Given the description of an element on the screen output the (x, y) to click on. 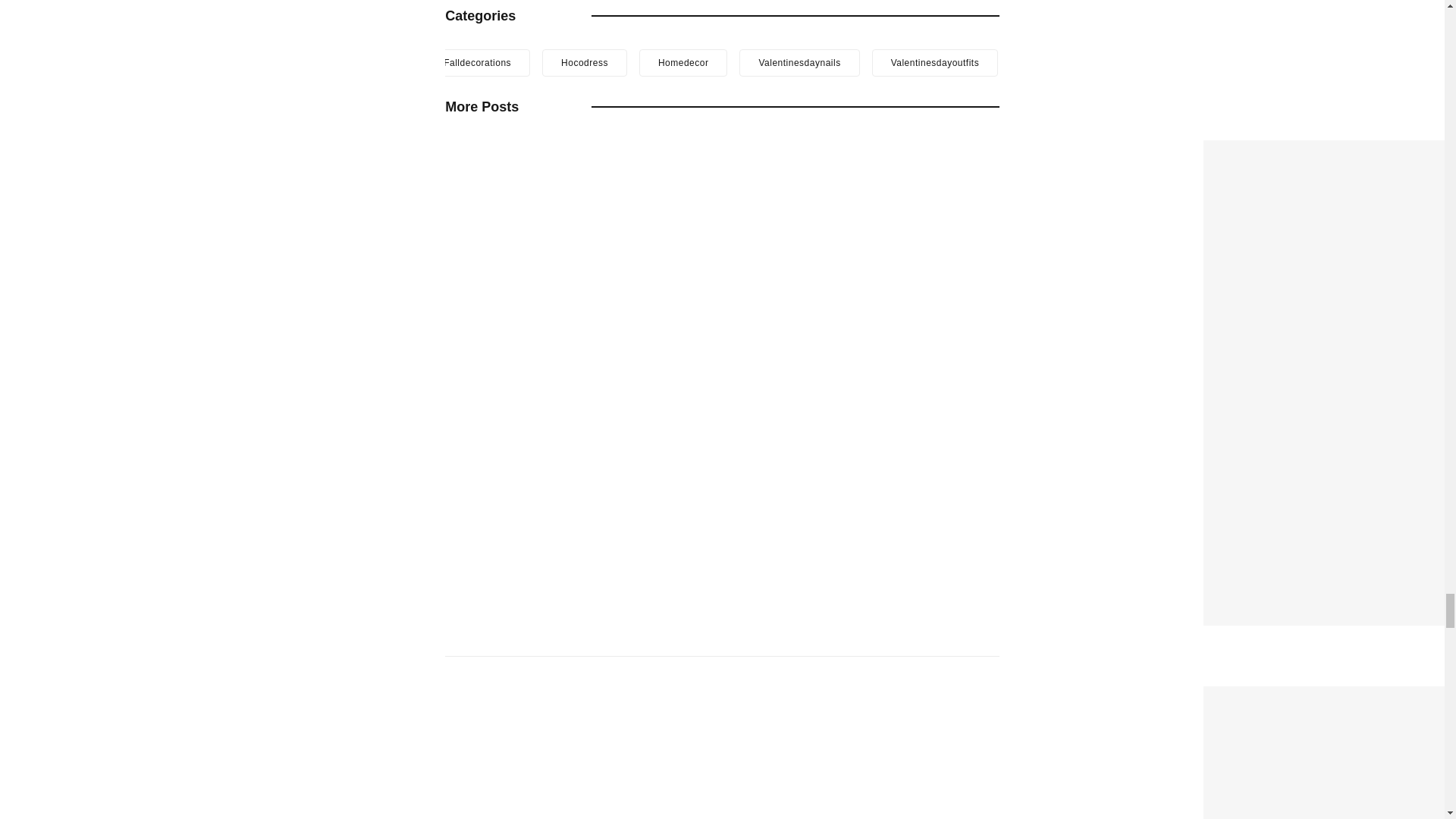
Falldecorations (477, 62)
Christmas Wallpaper Jack Skellington (1327, 150)
Valentinesdayoutfits (935, 62)
Preppy Pink Christmas Wallpaper Laptop (1330, 695)
Homedecor (683, 62)
Hocodress (584, 62)
Valentinesdaynails (799, 62)
